Given the description of an element on the screen output the (x, y) to click on. 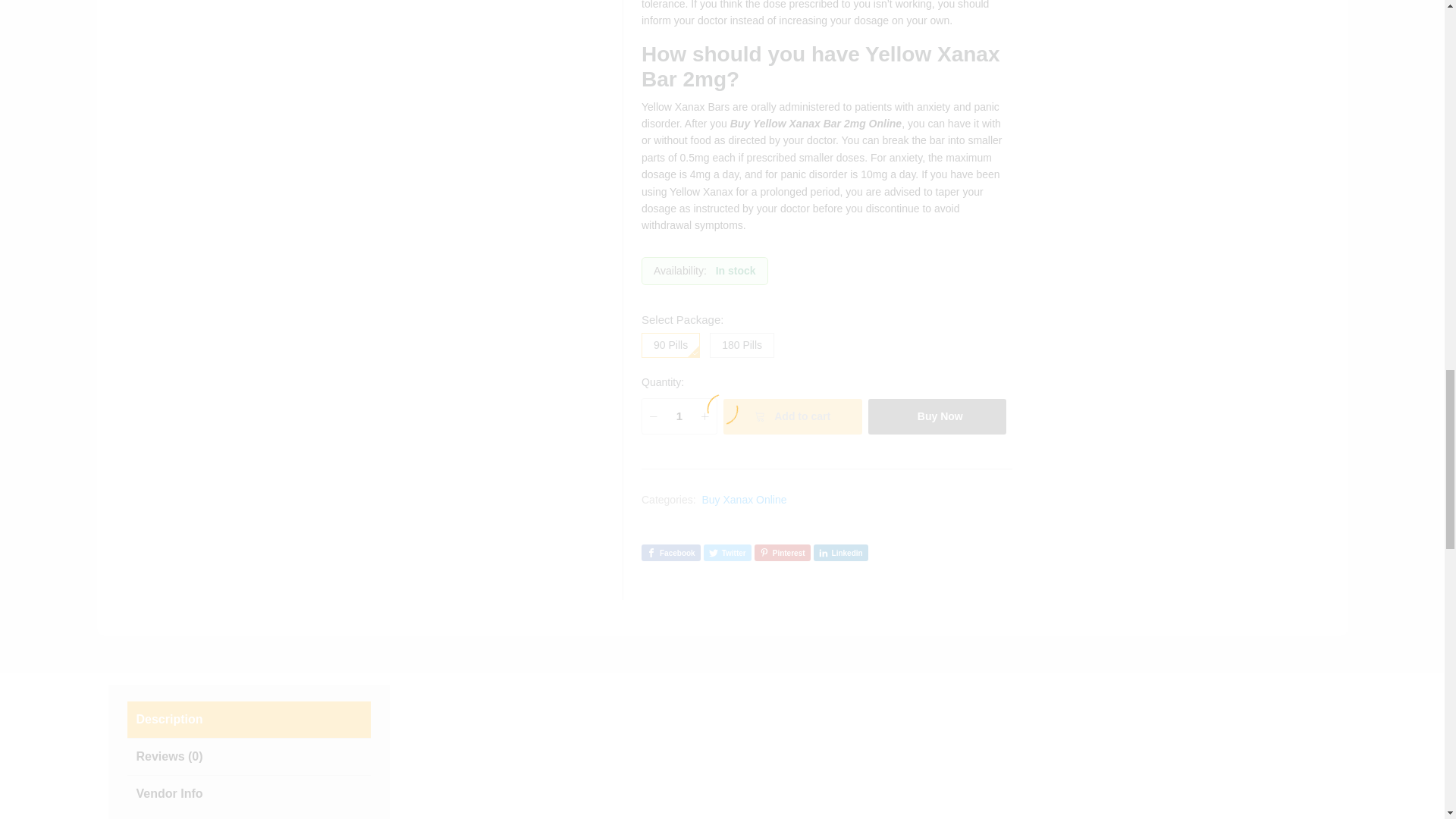
Facebook (671, 552)
1 (679, 416)
Buy Now (936, 416)
Add to cart (792, 416)
Pinterest (782, 552)
Twitter (727, 552)
Qty (679, 416)
Linkedin (840, 552)
